Given the description of an element on the screen output the (x, y) to click on. 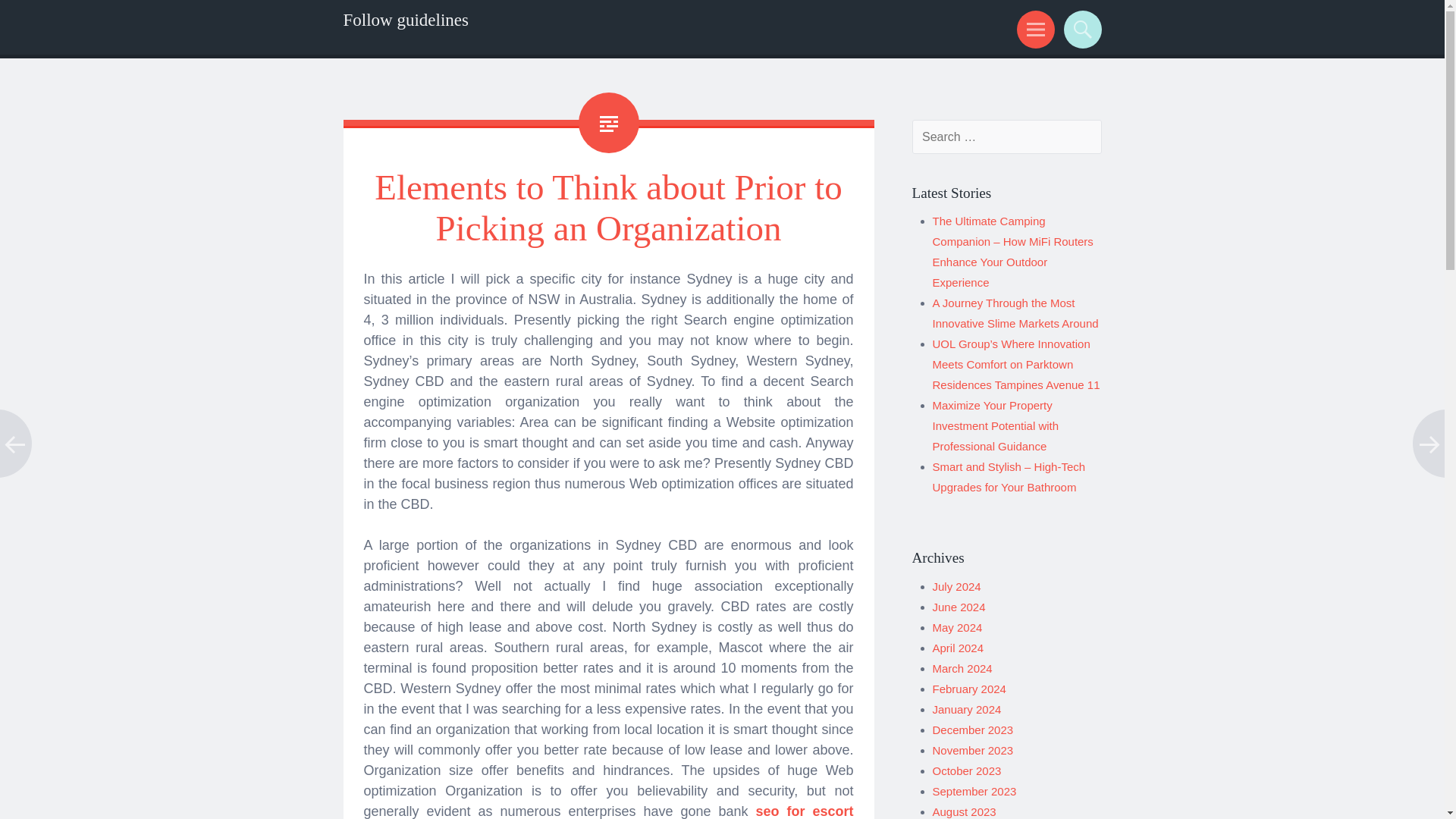
January 2024 (967, 708)
December 2023 (973, 729)
June 2024 (959, 606)
A Journey Through the Most Innovative Slime Markets Around (1016, 313)
April 2024 (958, 647)
Menu (1032, 29)
seo for escort directories (608, 811)
September 2023 (974, 790)
Follow guidelines (404, 19)
